Given the description of an element on the screen output the (x, y) to click on. 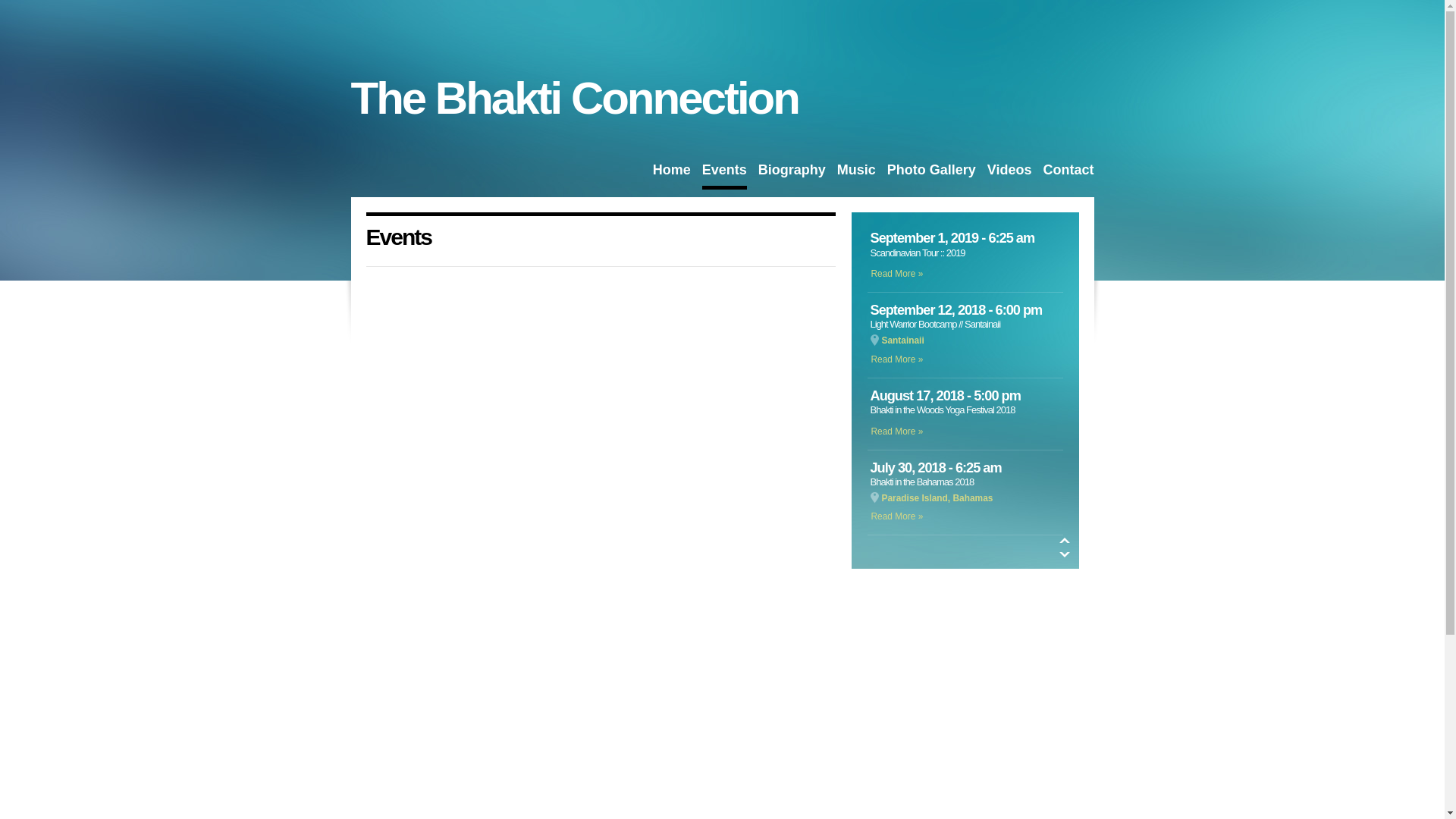
Up Element type: text (1063, 539)
Down Element type: text (1063, 554)
Events Element type: text (724, 175)
Music Element type: text (856, 173)
Contact Element type: text (1068, 173)
Videos Element type: text (1009, 173)
Biography Element type: text (791, 173)
Home Element type: text (671, 173)
Photo Gallery Element type: text (931, 173)
The Bhakti Connection Element type: text (573, 97)
September 1, 2019 - 6:25 am
Scandinavian Tour :: 2019 Element type: text (965, 246)
